Given the description of an element on the screen output the (x, y) to click on. 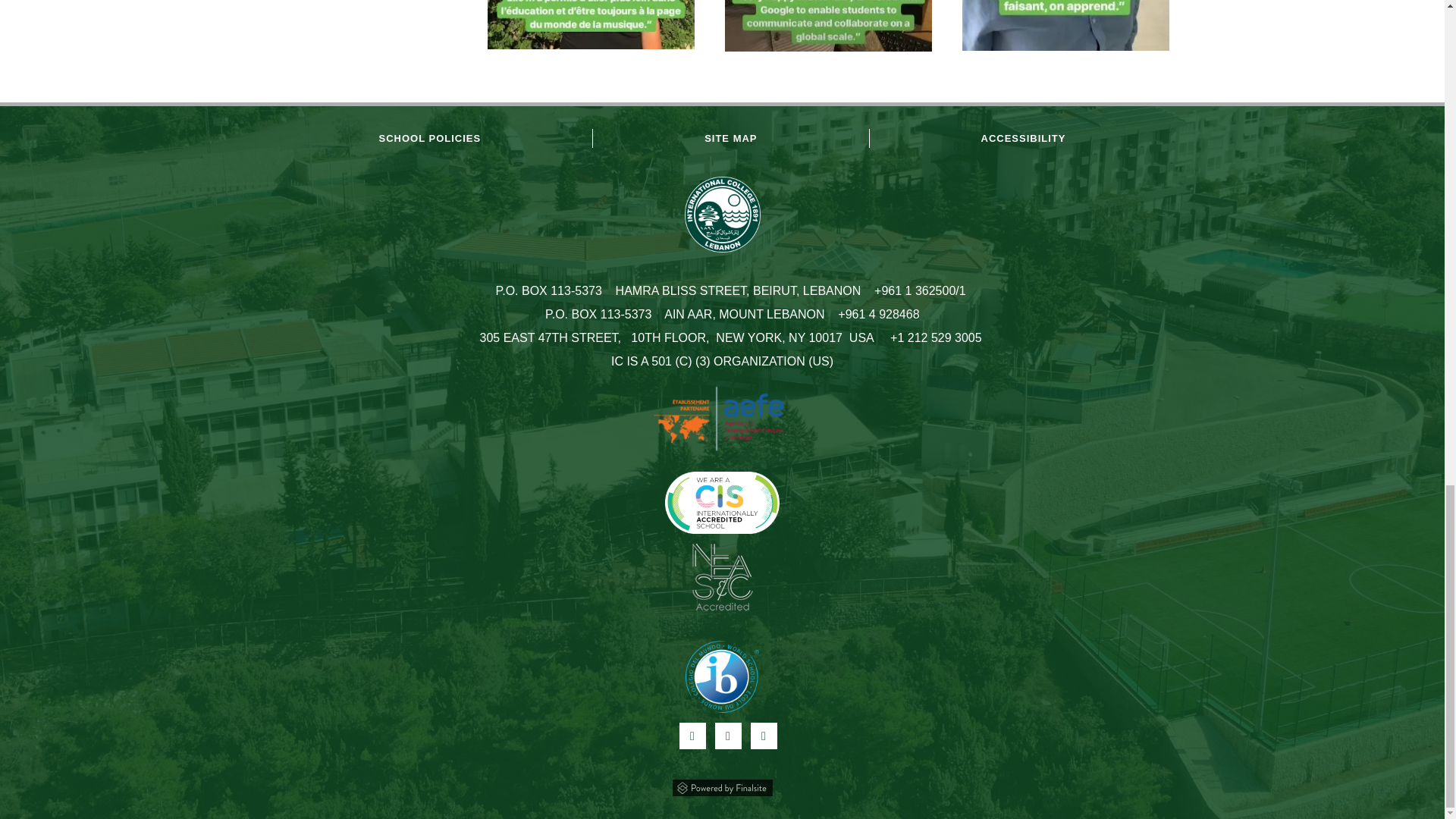
Powered by Finalsite opens in a new window (722, 785)
